Given the description of an element on the screen output the (x, y) to click on. 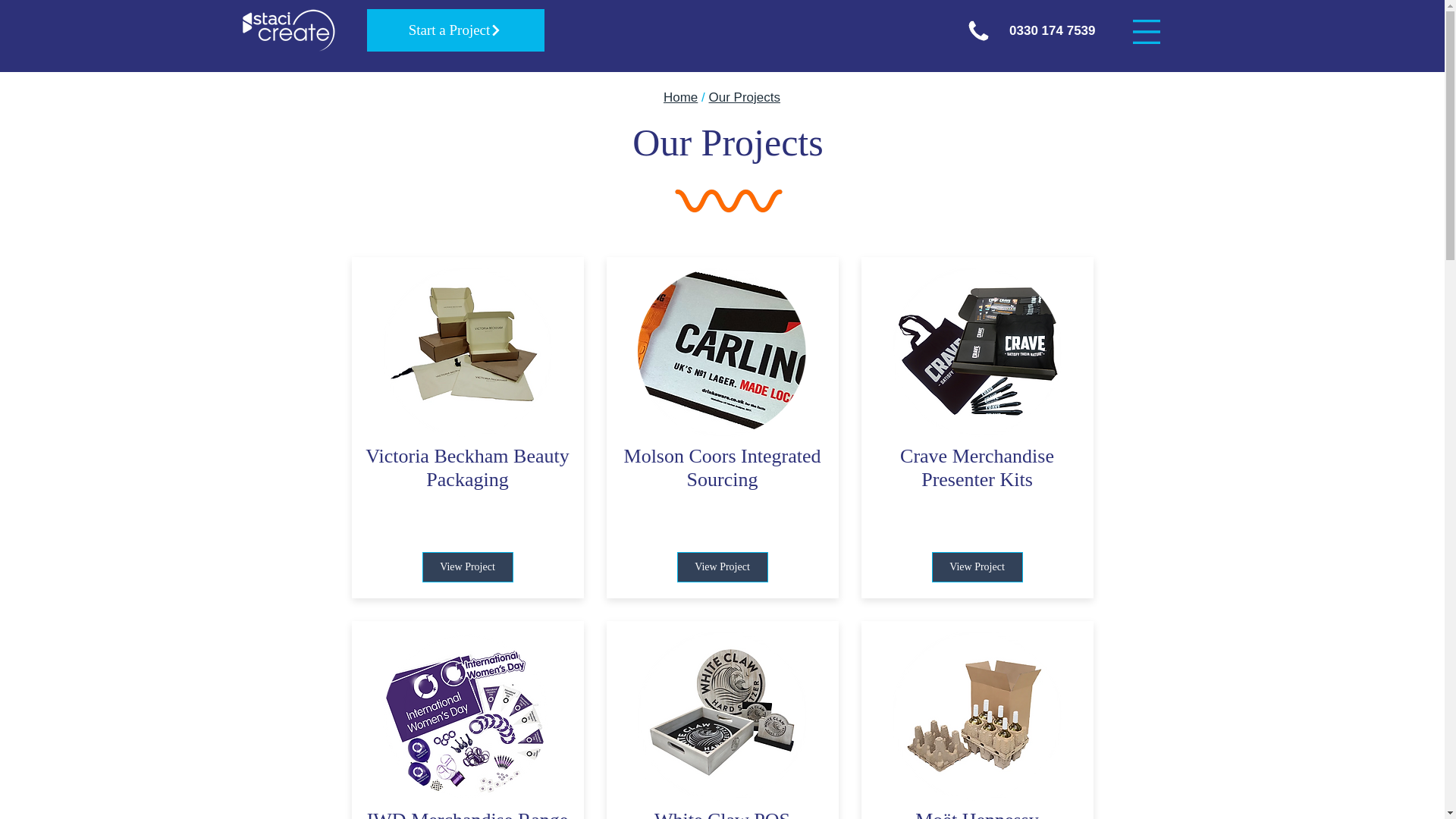
VBB Packaging Design Circle.webp (466, 351)
Our Projects (744, 97)
Home (680, 97)
IWD image Circle.png (466, 715)
Carling Bar Runner Circle.png (721, 351)
View Project (467, 567)
Crave Merchandise Kits.png (976, 351)
Start a Project (455, 30)
View Project (976, 567)
Moet Hennessy eCommerce Packaging Circle.webp (976, 715)
White Claw POS Management Circle.webp (721, 715)
View Project (722, 567)
